Given the description of an element on the screen output the (x, y) to click on. 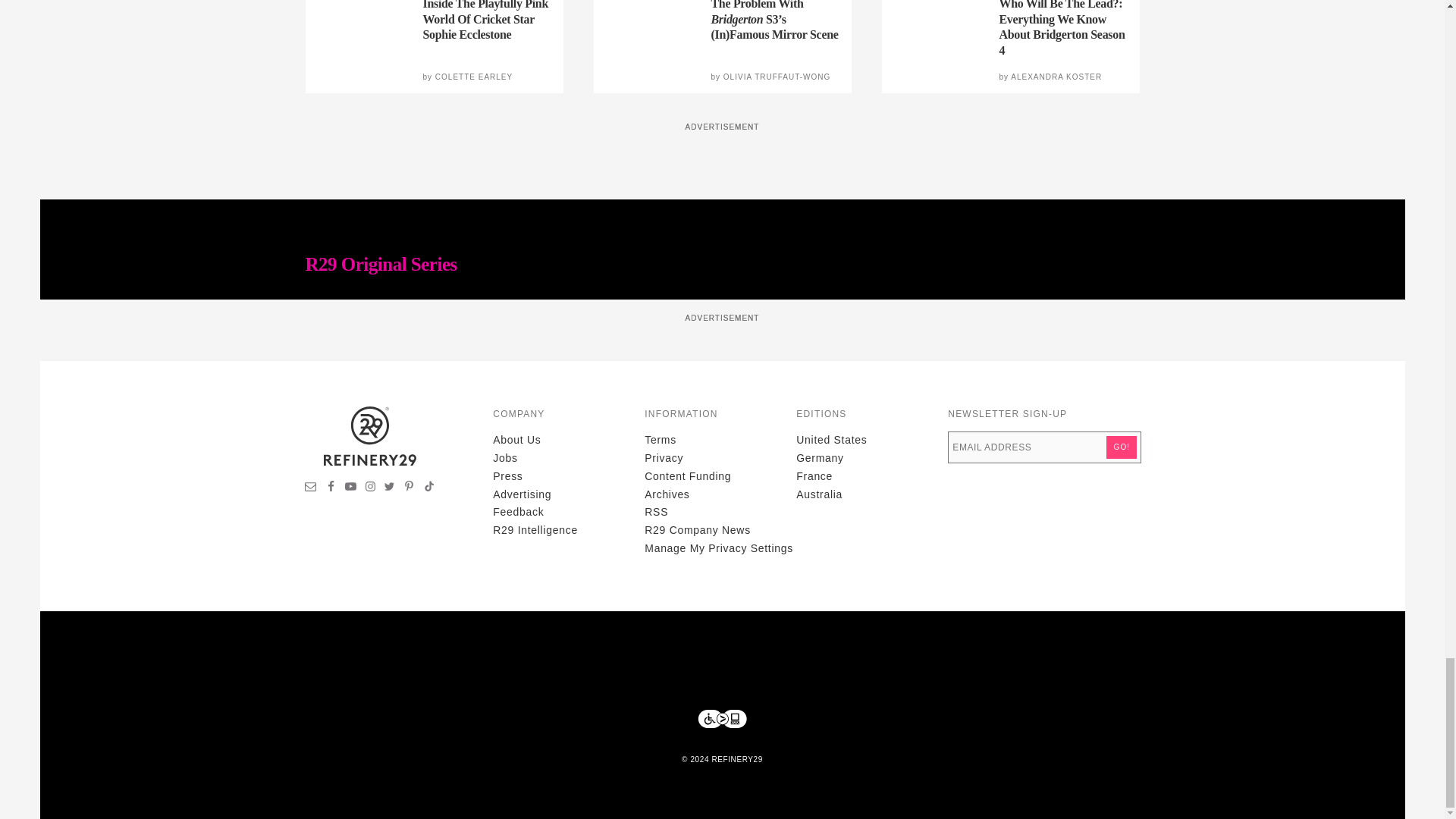
Sign up for newsletters (310, 488)
Visit Refinery29 on YouTube (350, 488)
Visit Refinery29 on TikTok (428, 488)
